Given the description of an element on the screen output the (x, y) to click on. 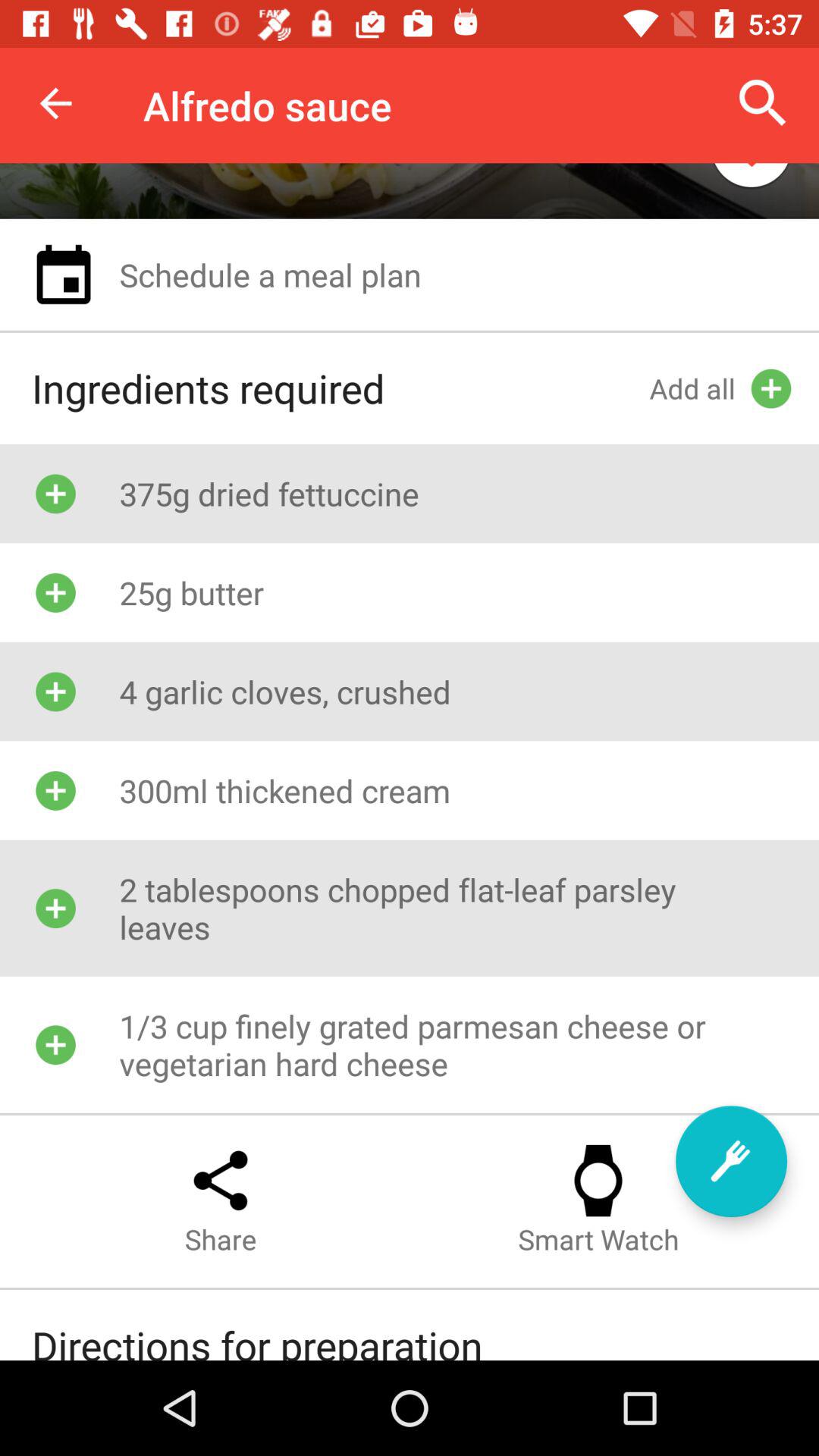
click on the add symbol which is left hand side of the text 375g dried fettuccine (55, 493)
